Given the description of an element on the screen output the (x, y) to click on. 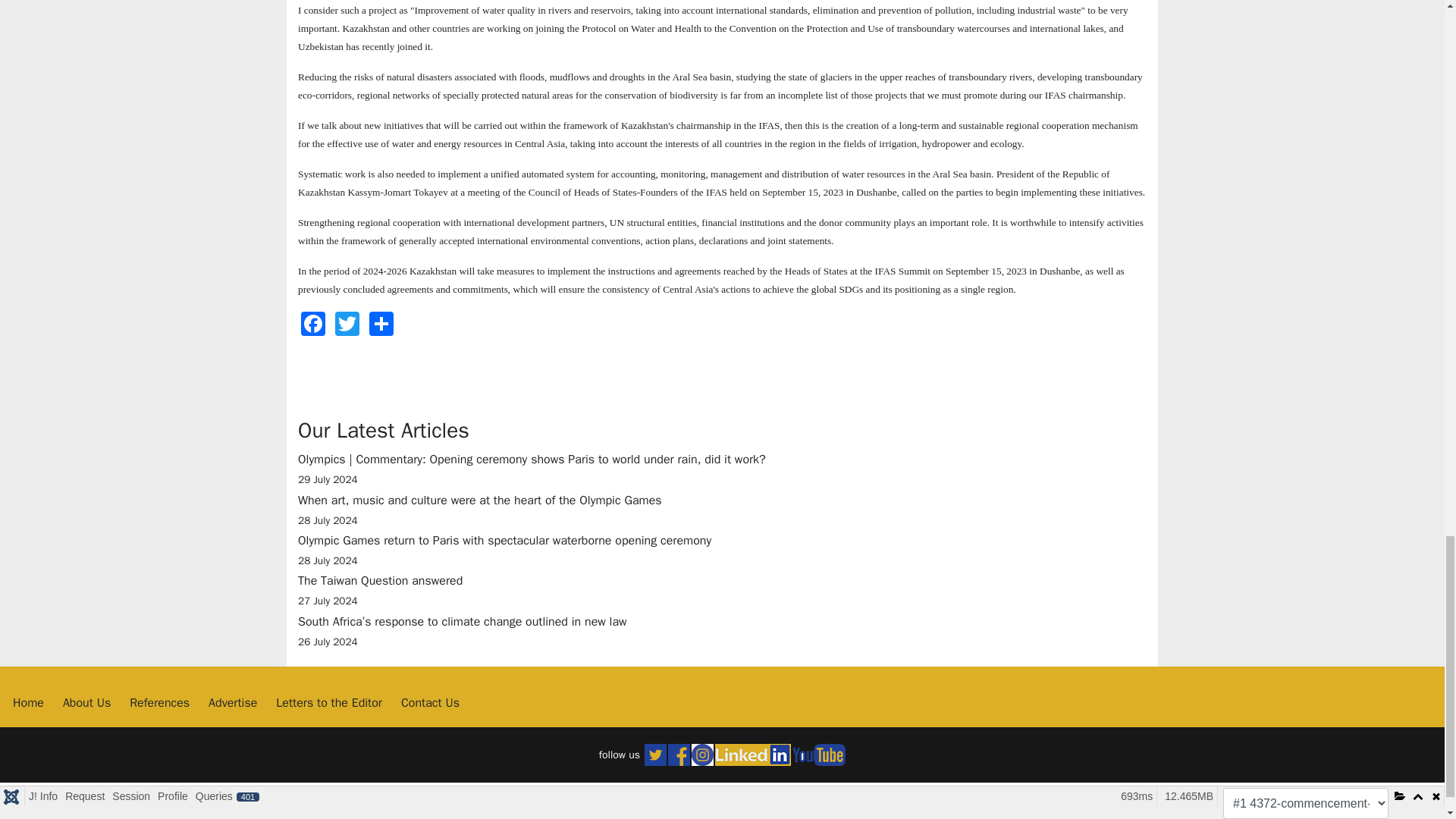
Facebook (313, 322)
Contact Us (430, 702)
Share (381, 322)
Advertise (232, 702)
Home (28, 702)
References (159, 702)
Twitter (346, 322)
About Us (86, 702)
Letters to the Editor (328, 702)
